Given the description of an element on the screen output the (x, y) to click on. 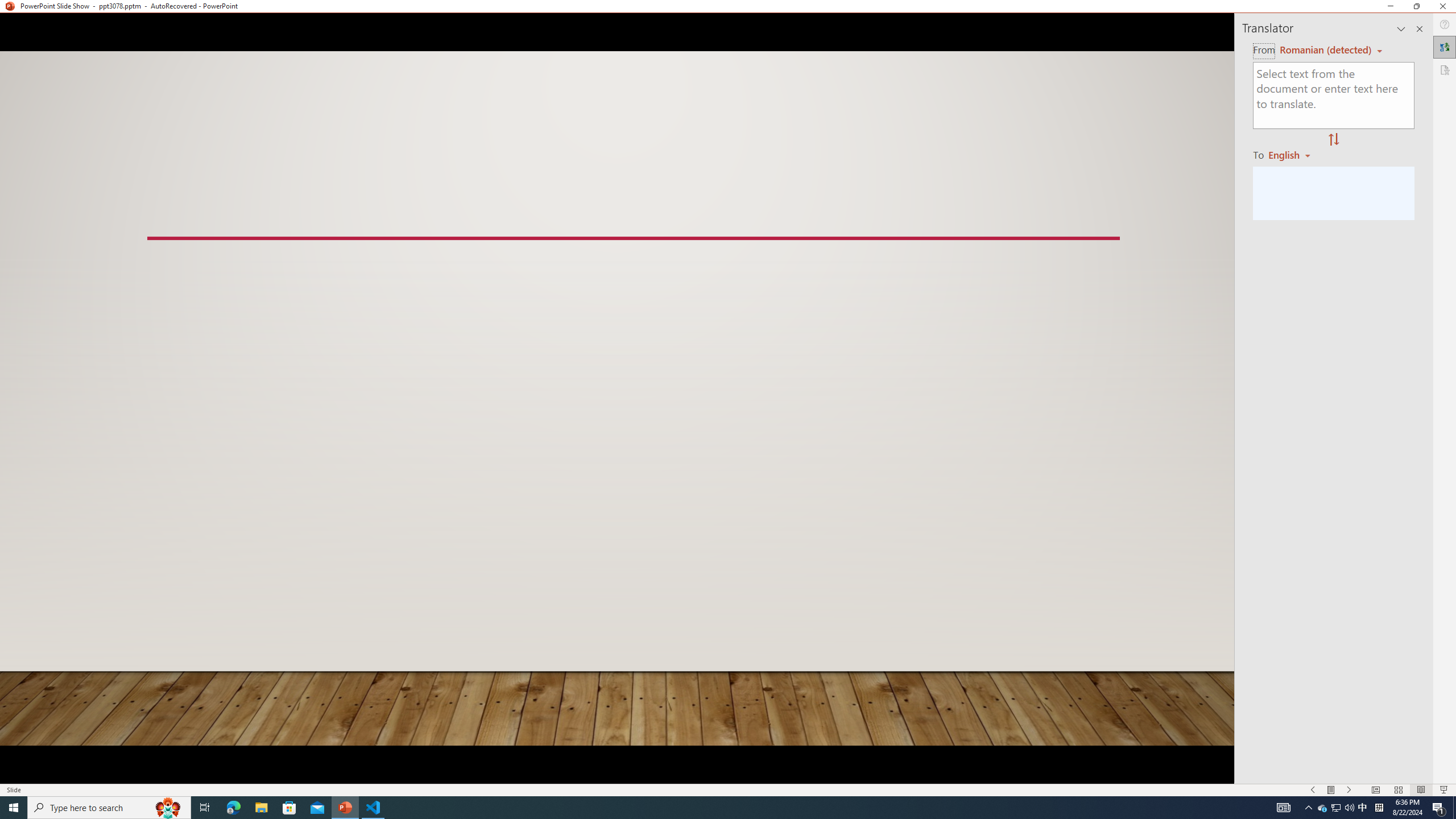
Slide Show Next On (1349, 790)
Swap "from" and "to" languages. (1333, 140)
Menu On (1331, 790)
Slide Show Previous On (1313, 790)
Translator (1444, 47)
